Given the description of an element on the screen output the (x, y) to click on. 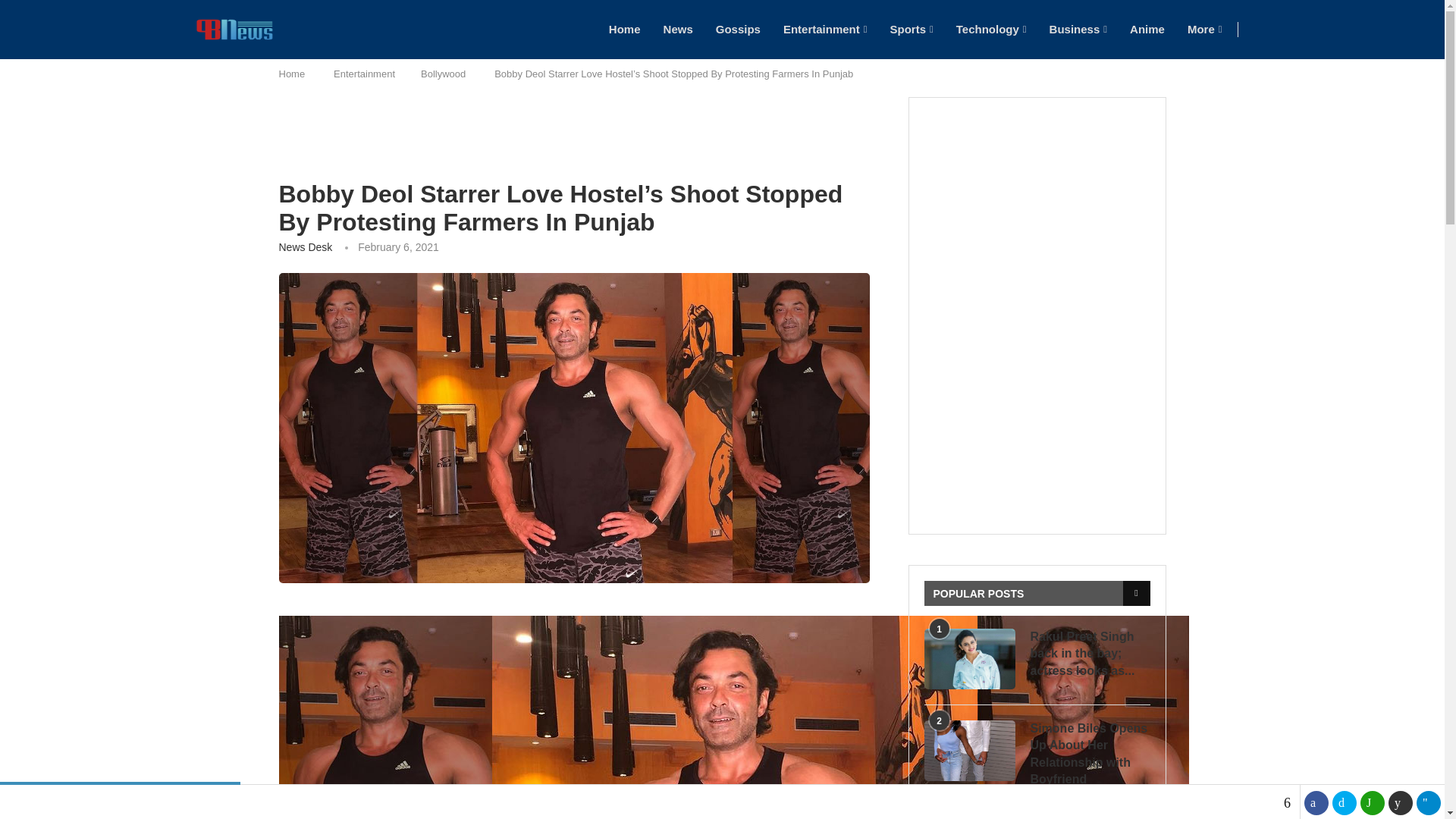
Advertisement (1056, 417)
Sports (911, 29)
Advertisement (574, 137)
Gossips (738, 29)
Entertainment (825, 29)
